Given the description of an element on the screen output the (x, y) to click on. 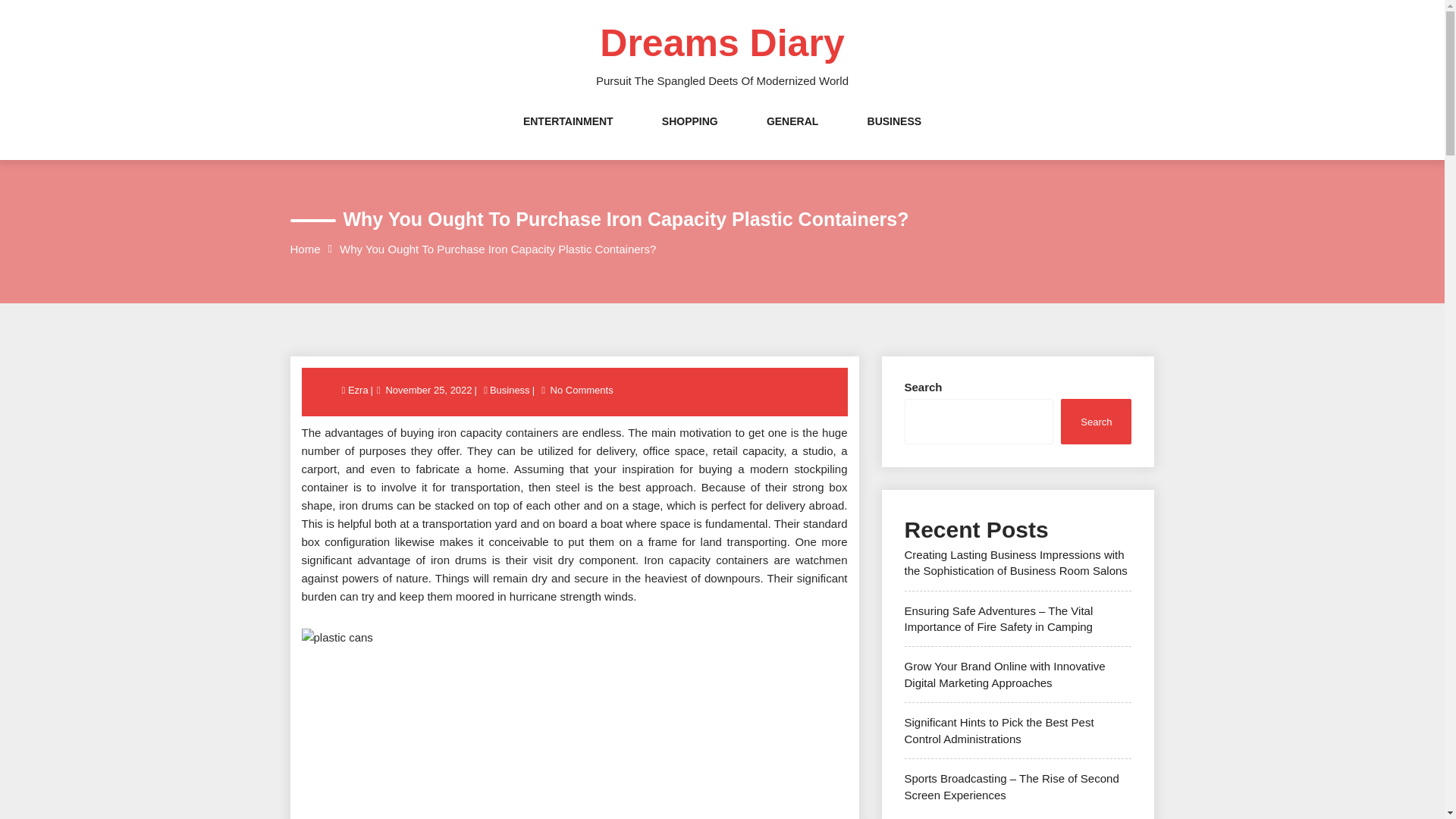
BUSINESS (894, 136)
Business (509, 389)
Search (1096, 420)
No Comments (581, 389)
Home (304, 248)
November 25, 2022 (428, 389)
ENTERTAINMENT (567, 136)
Ezra (359, 389)
